Given the description of an element on the screen output the (x, y) to click on. 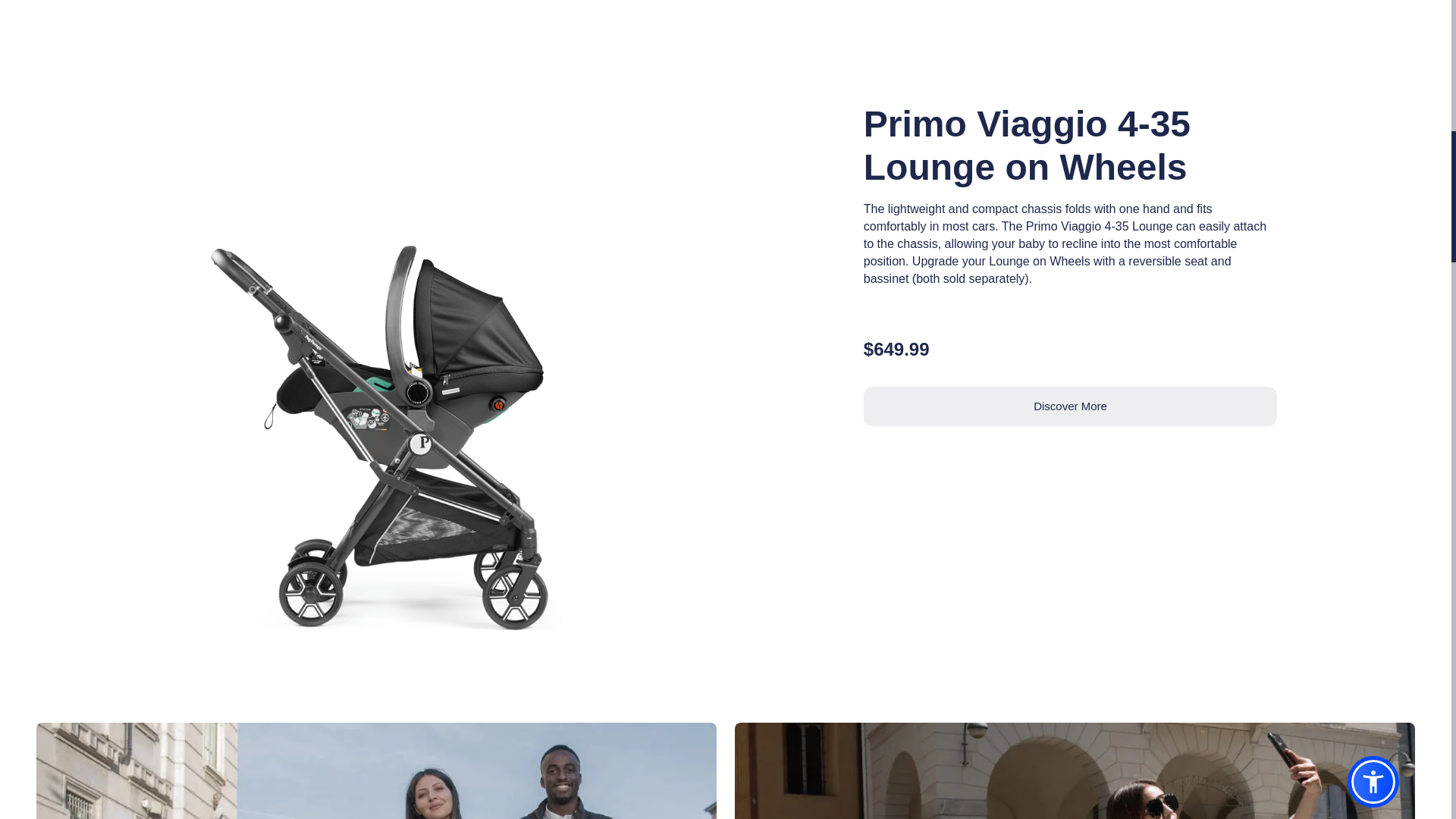
Discover all Modular System Peg Perego (376, 770)
Discover all Strollers (1075, 770)
